Given the description of an element on the screen output the (x, y) to click on. 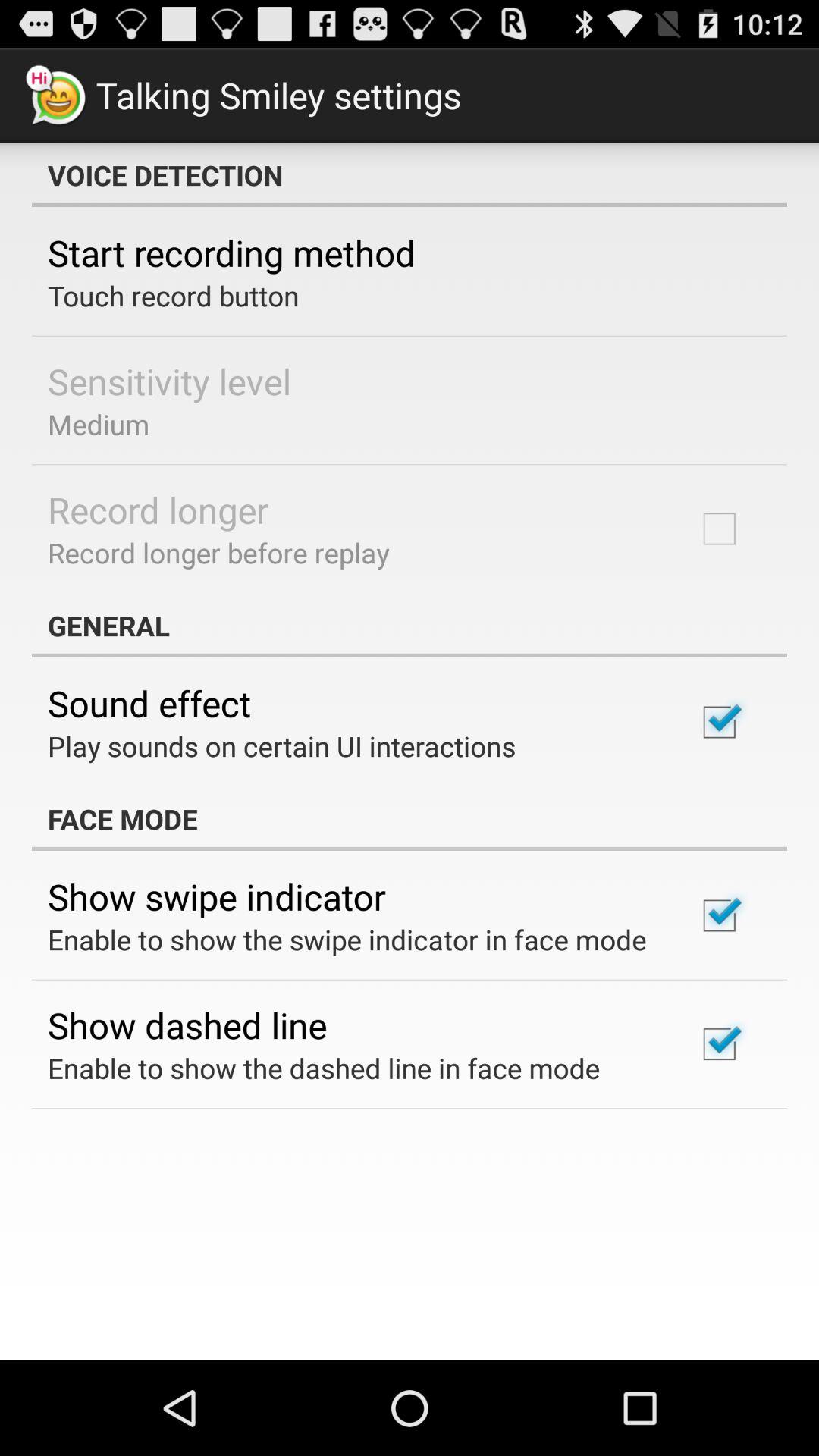
launch the medium item (98, 424)
